Given the description of an element on the screen output the (x, y) to click on. 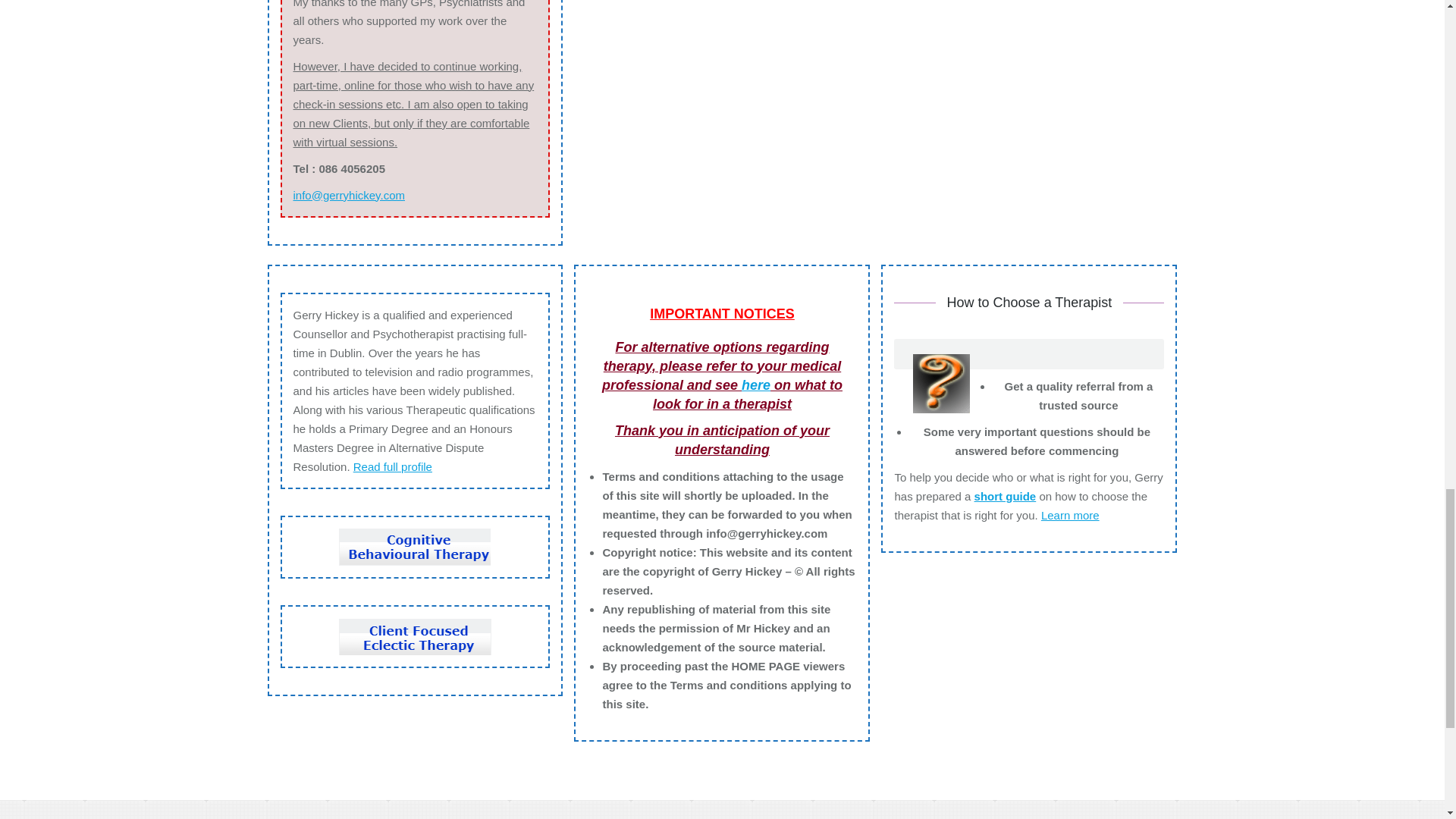
Learn more (1070, 513)
short guide (1005, 495)
here (755, 385)
Read full profile (392, 465)
